Given the description of an element on the screen output the (x, y) to click on. 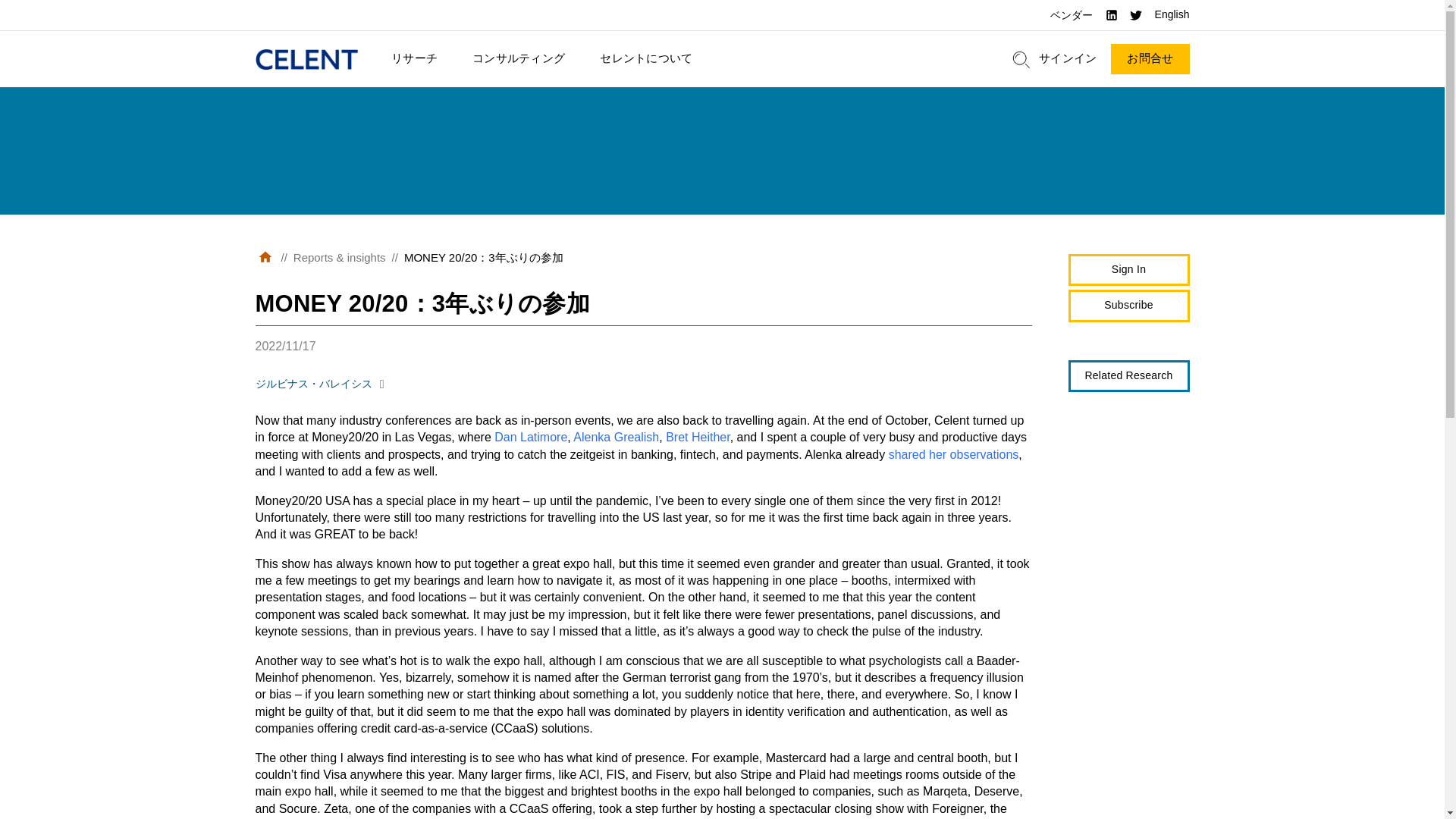
Sign In (1128, 269)
Home (306, 59)
English (1171, 14)
search (1020, 58)
Subscribe (1128, 305)
